Given the description of an element on the screen output the (x, y) to click on. 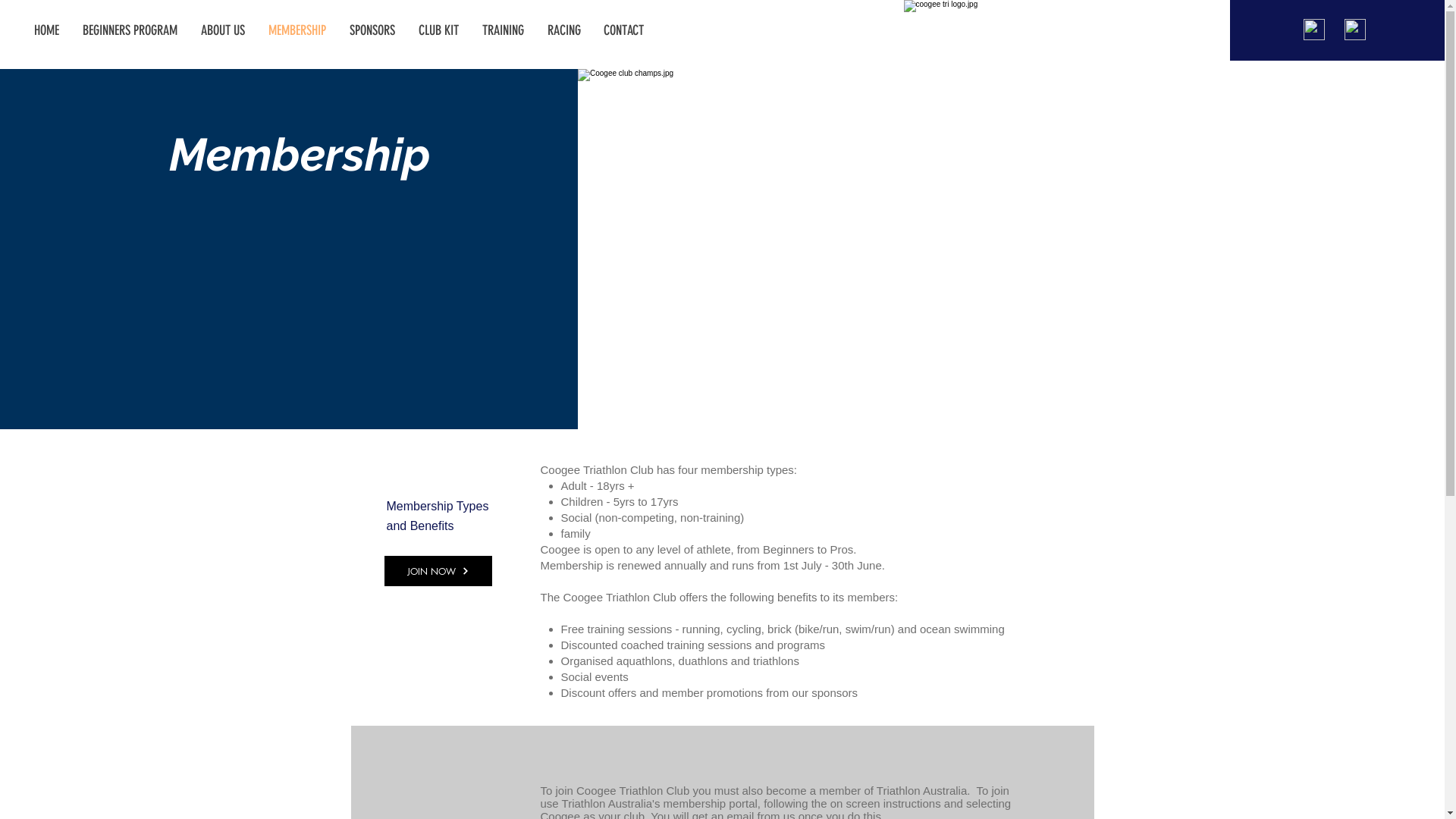
TRAINING Element type: text (503, 30)
CLUB KIT Element type: text (438, 30)
BEGINNERS PROGRAM Element type: text (130, 30)
CONTACT Element type: text (623, 30)
ABOUT US Element type: text (223, 30)
RACING Element type: text (564, 30)
SPONSORS Element type: text (372, 30)
JOIN NOW Element type: text (437, 570)
HOME Element type: text (46, 30)
MEMBERSHIP Element type: text (297, 30)
